Given the description of an element on the screen output the (x, y) to click on. 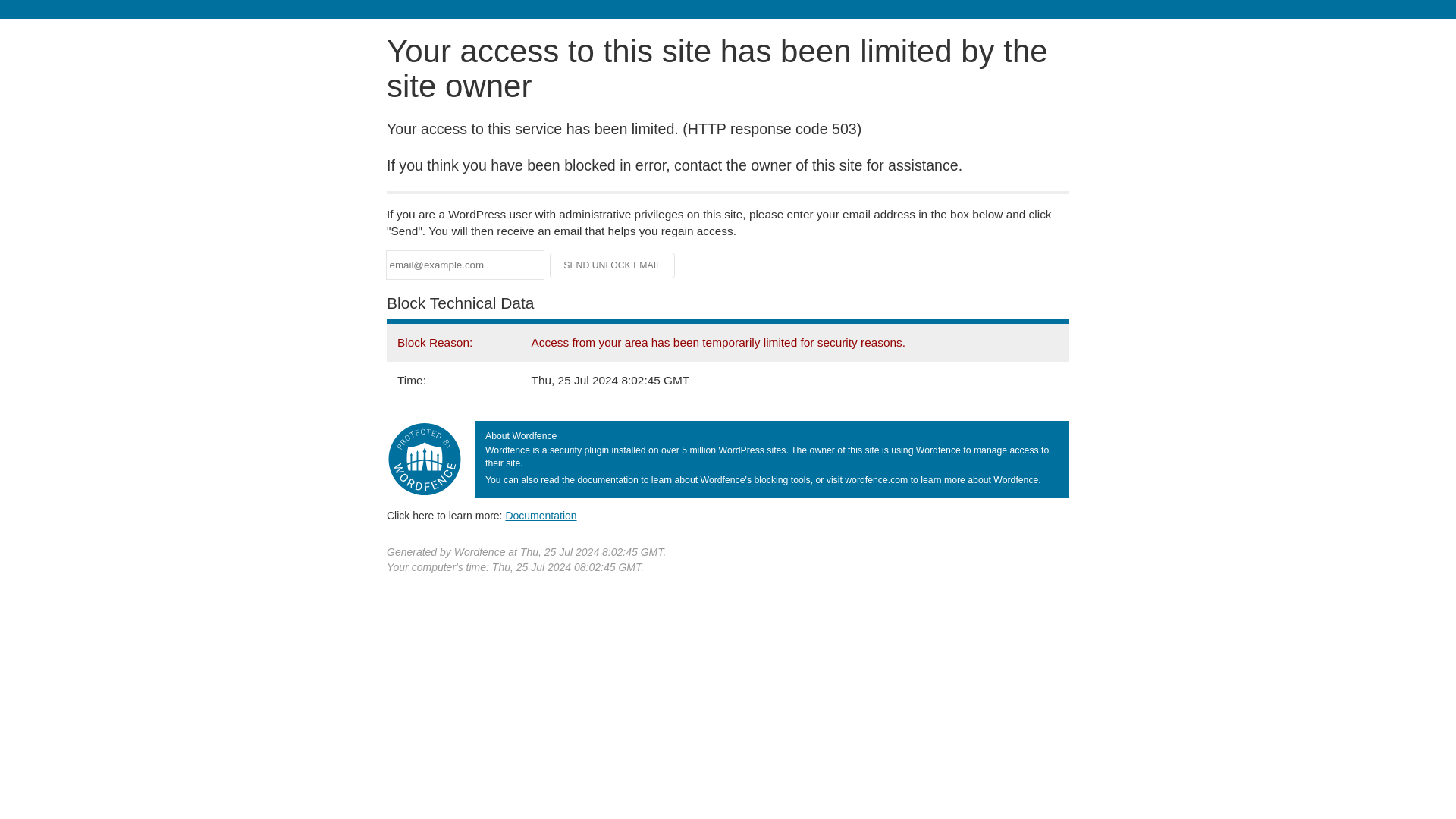
Documentation (540, 515)
Send Unlock Email (612, 265)
Send Unlock Email (612, 265)
